Given the description of an element on the screen output the (x, y) to click on. 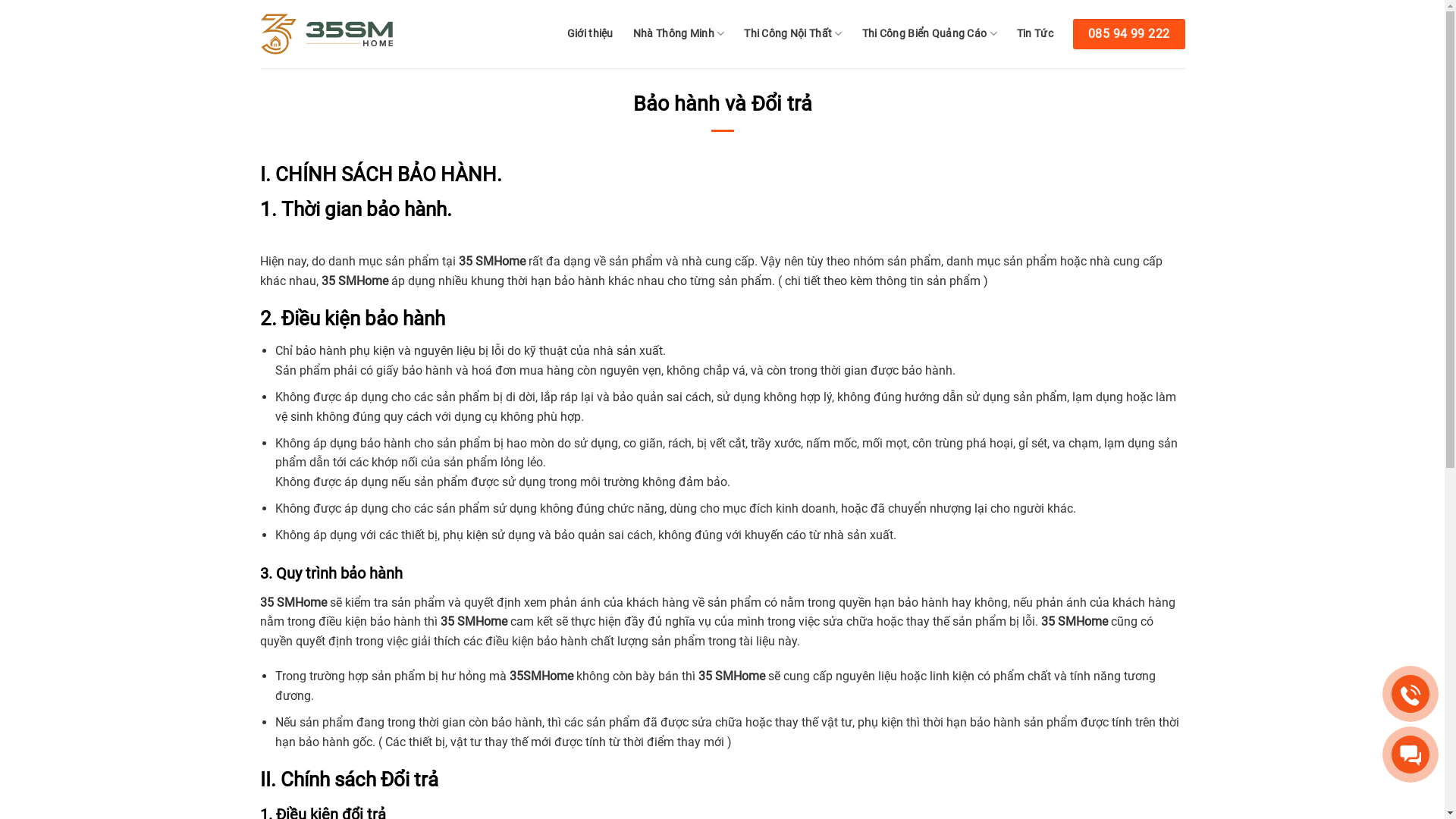
085 94 99 222 Element type: text (1129, 33)
